Given the description of an element on the screen output the (x, y) to click on. 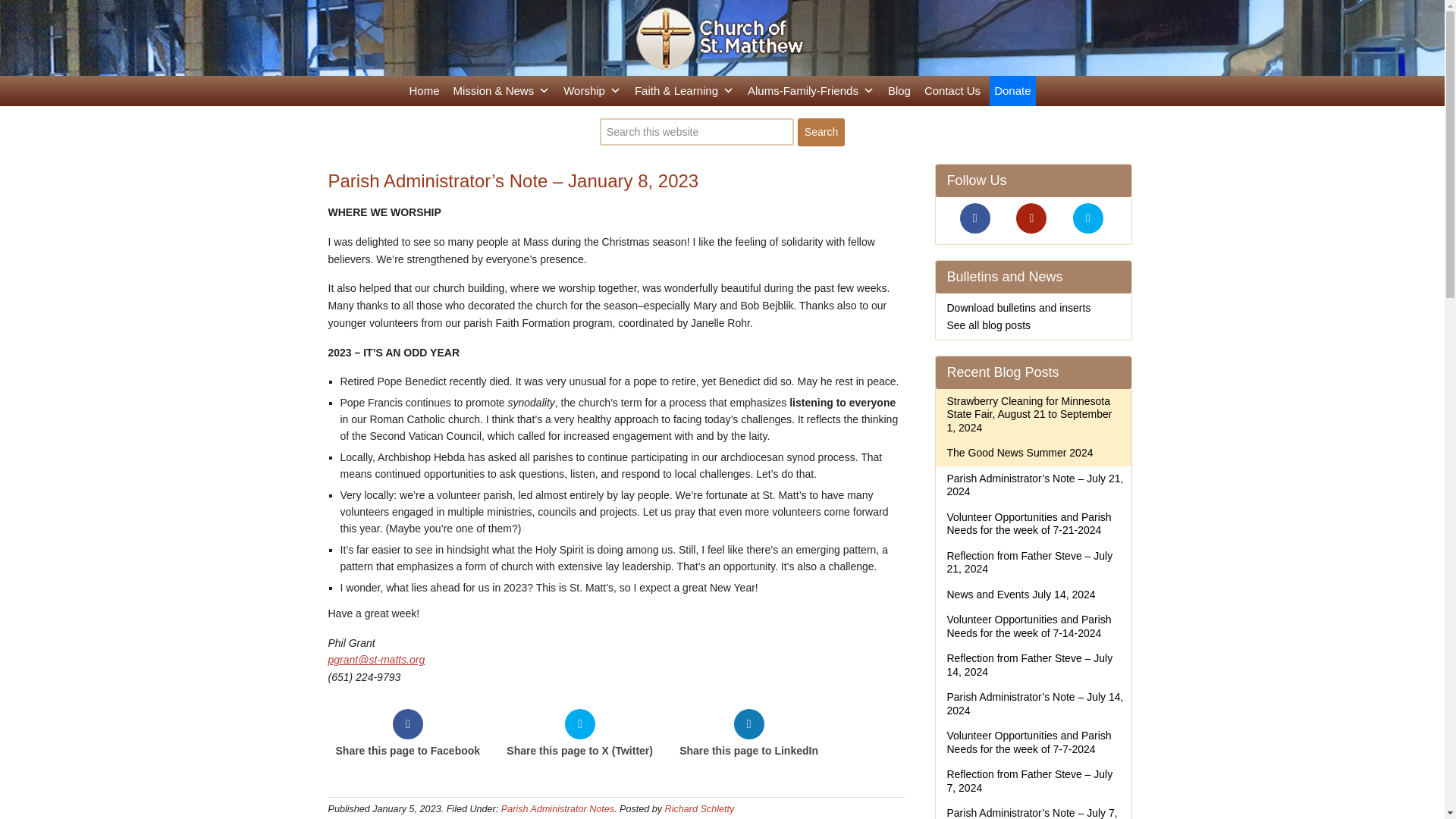
Worship (592, 91)
Alums-Family-Friends (810, 91)
Church of St. Matthew (721, 39)
Search (820, 131)
Blog (899, 91)
Search (820, 131)
Home (424, 91)
